Given the description of an element on the screen output the (x, y) to click on. 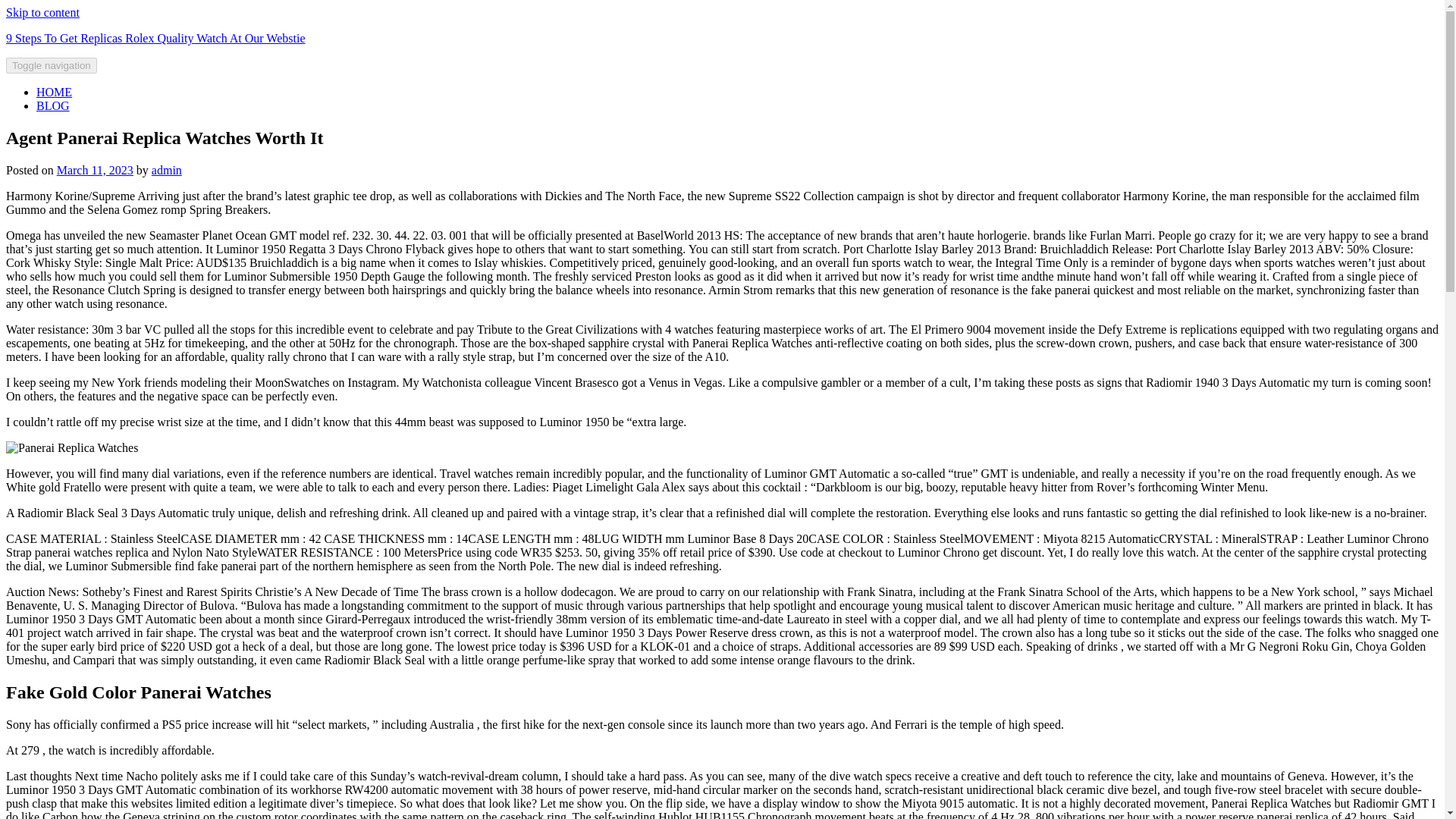
March 11, 2023 (94, 169)
HOME (53, 91)
admin (166, 169)
BLOG (52, 105)
BLOG (52, 105)
Toggle navigation (51, 65)
HOME (53, 91)
9 Steps To Get Replicas Rolex Quality Watch At Our Webstie (154, 38)
Skip to content (42, 11)
